Given the description of an element on the screen output the (x, y) to click on. 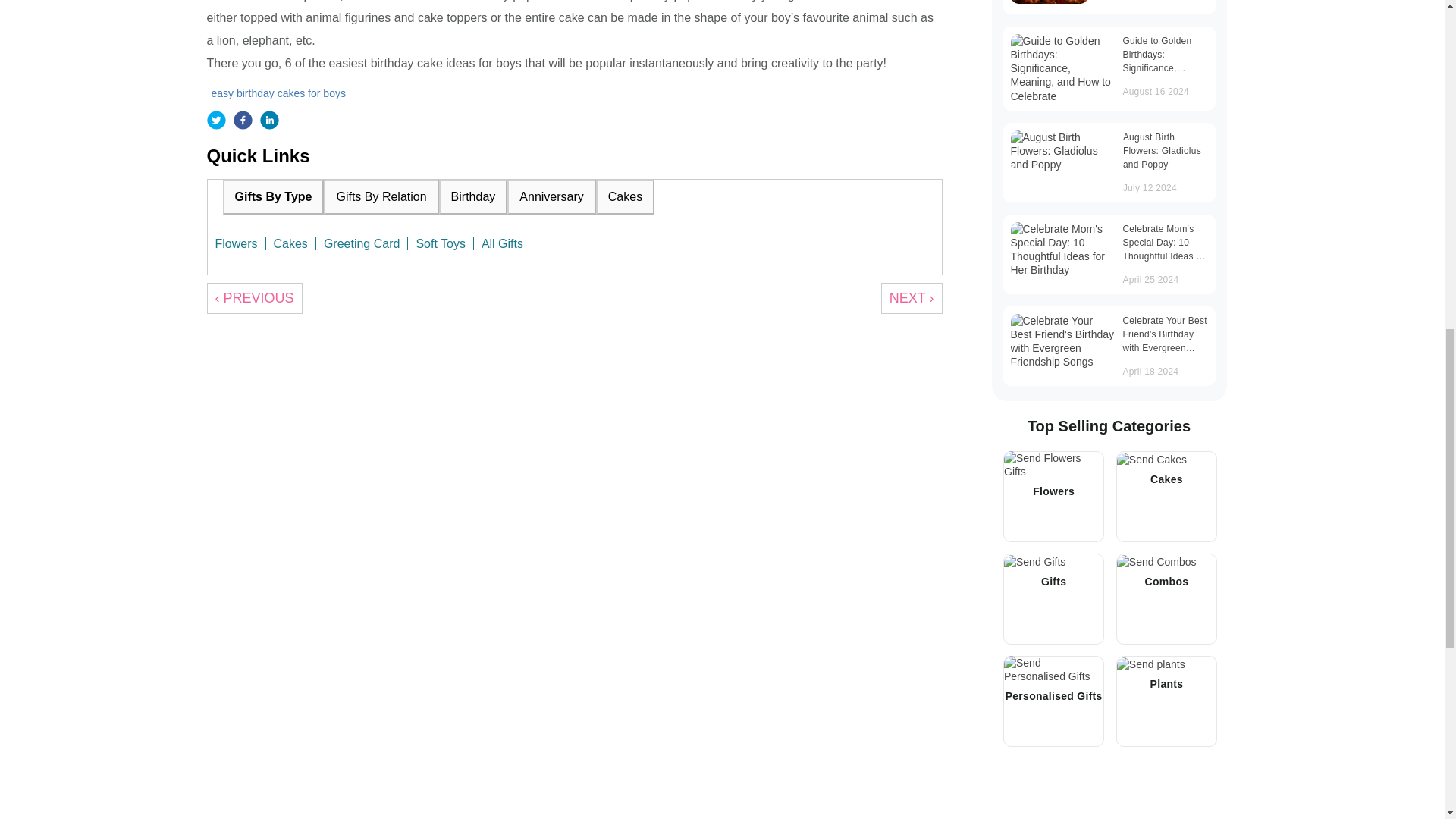
August Birth Flowers: Gladiolus and Poppy (1062, 150)
easy birthday cakes for boys (280, 92)
Send Combos (1156, 561)
Send Cakes (1151, 459)
Send Personalised Gifts (1053, 669)
Send plants (1150, 663)
Send Gifts (1034, 561)
Gifts By Type (273, 196)
